Given the description of an element on the screen output the (x, y) to click on. 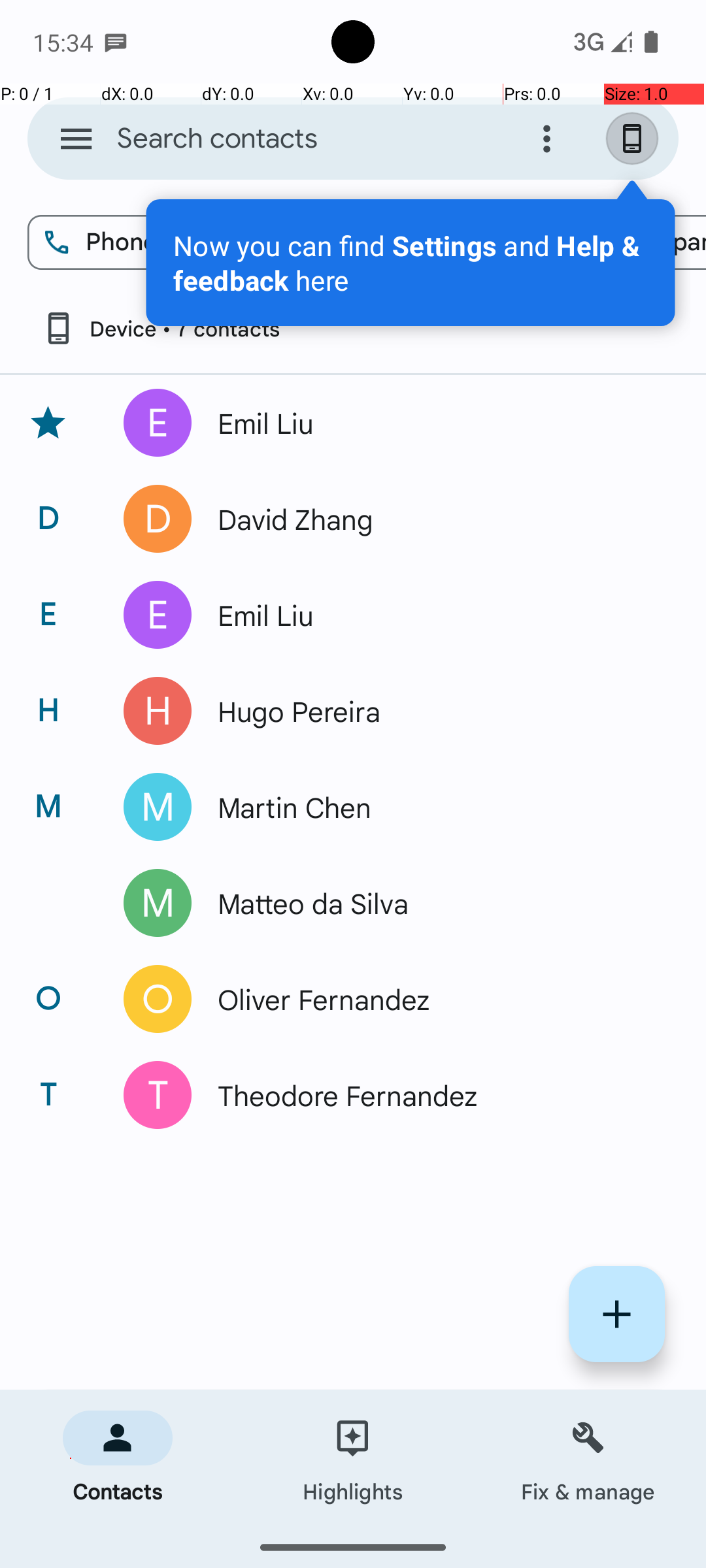
Device • 7 contacts Element type: android.widget.TextView (160, 328)
Emil Liu Element type: android.widget.TextView (434, 422)
David Zhang Element type: android.widget.TextView (434, 518)
Hugo Pereira Element type: android.widget.TextView (434, 710)
Martin Chen Element type: android.widget.TextView (434, 806)
Matteo da Silva Element type: android.widget.TextView (434, 902)
Oliver Fernandez Element type: android.widget.TextView (434, 998)
Theodore Fernandez Element type: android.widget.TextView (434, 1094)
SMS Messenger notification: Martin Chen Element type: android.widget.ImageView (115, 41)
